Given the description of an element on the screen output the (x, y) to click on. 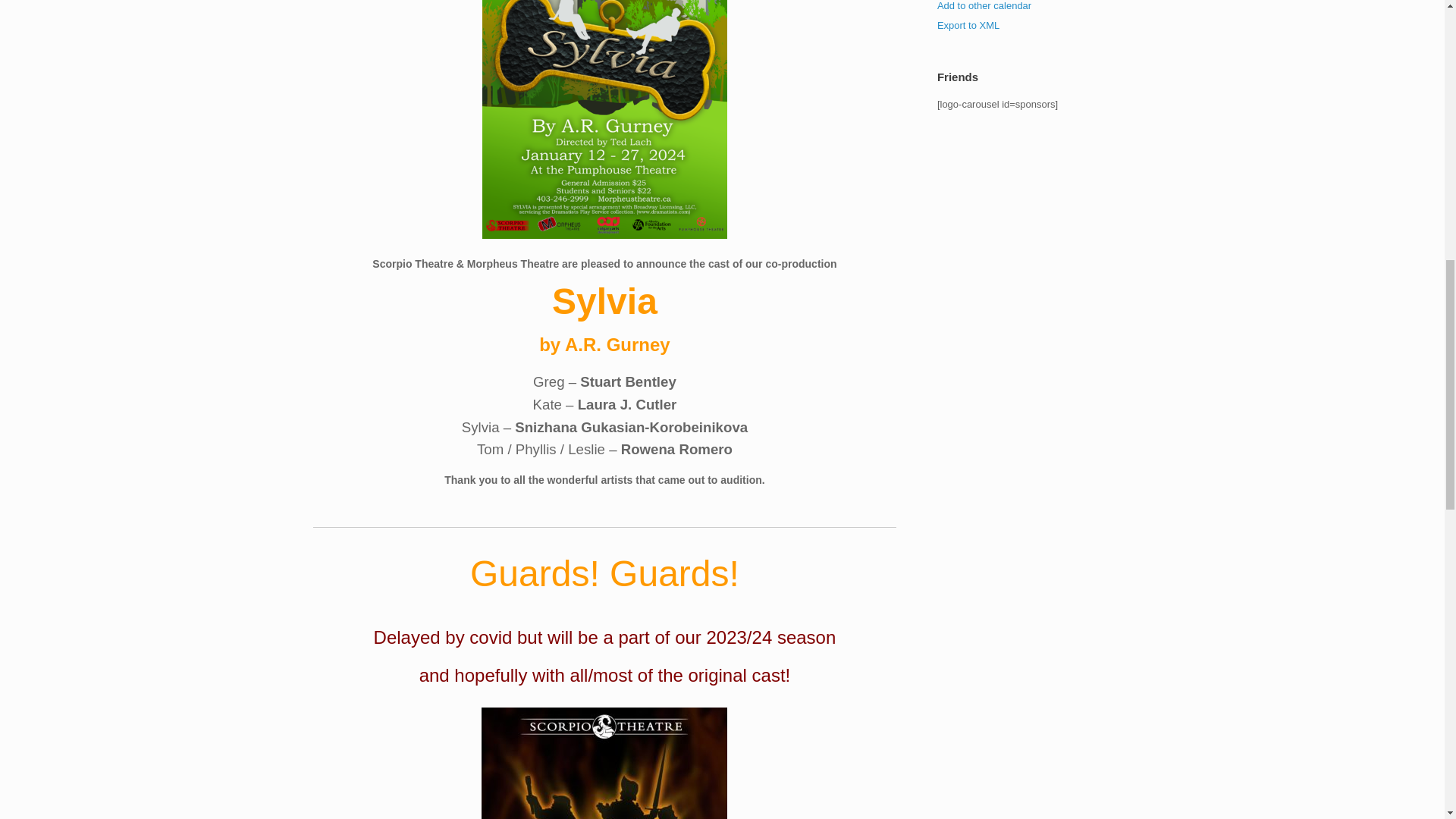
Add to other calendar (983, 5)
Export to XML (967, 25)
Subscribe to this calendar in another plain-text calendar (983, 5)
